Given the description of an element on the screen output the (x, y) to click on. 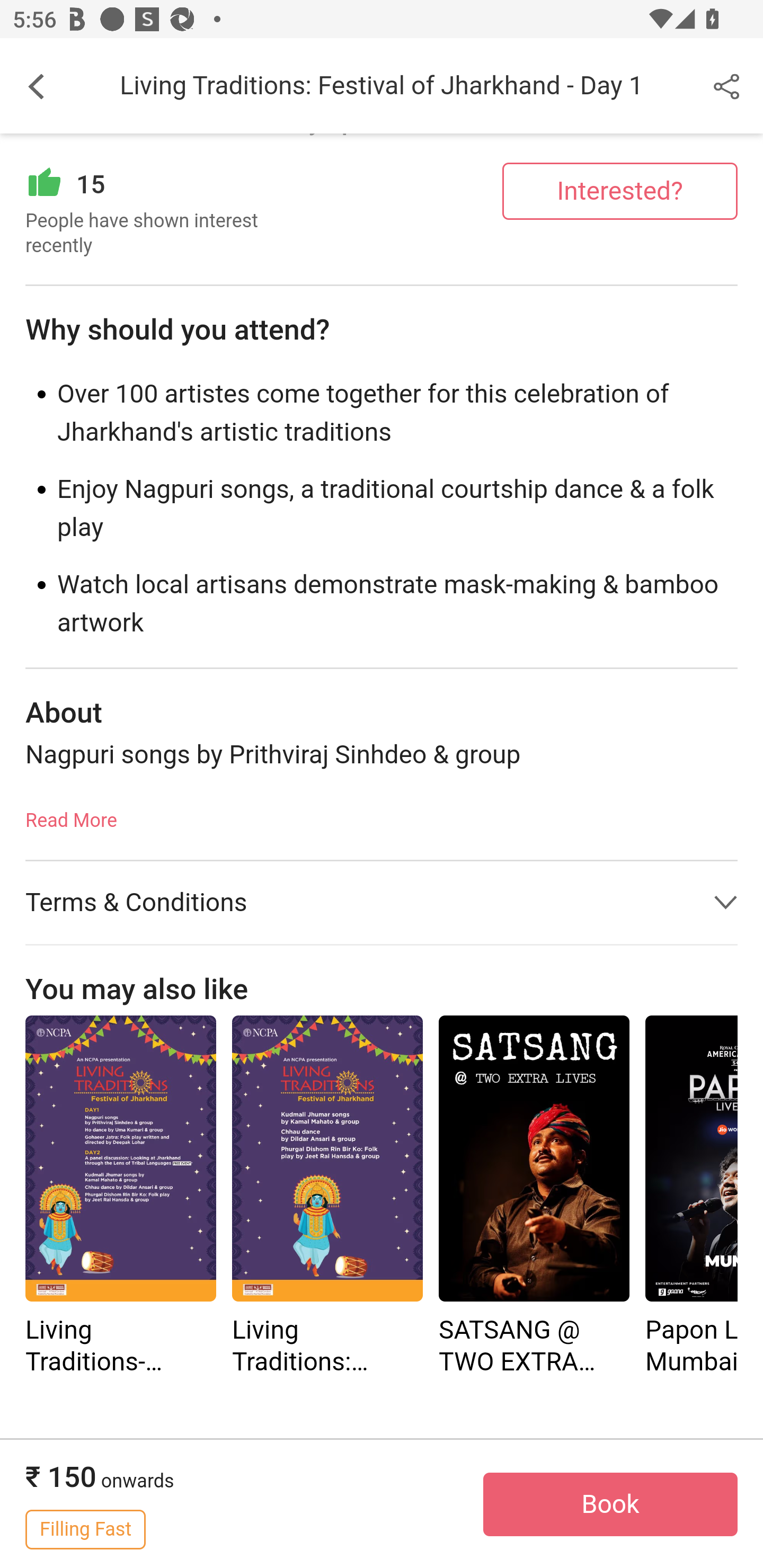
Interested? (619, 191)
Read More (71, 815)
Terms & Conditions (381, 902)
Living Traditions- Festival of Jharkhand (120, 1197)
Living Traditions- Festival of Jharkhand (120, 1159)
Living Traditions: Festival of Jharkhand - Day 2 (326, 1197)
Living Traditions: Festival of Jharkhand - Day 2 (326, 1159)
SATSANG @ TWO EXTRA LIVES (533, 1197)
SATSANG @ TWO EXTRA LIVES (533, 1159)
Book (609, 1505)
